Given the description of an element on the screen output the (x, y) to click on. 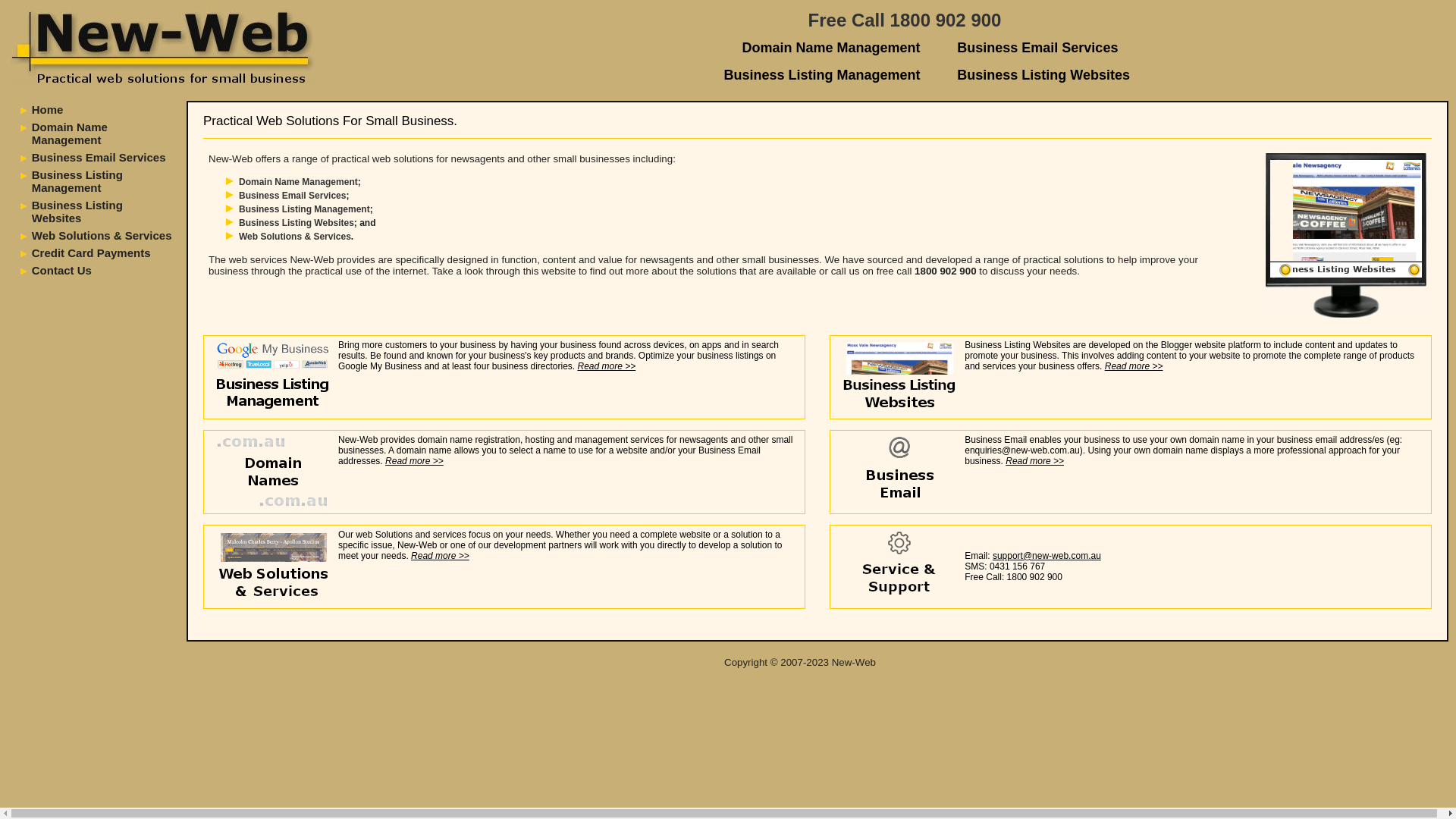
Credit Card Payments Element type: text (90, 252)
Web Solutions & Services Element type: text (101, 235)
Business Listing Websites Element type: text (1043, 74)
Domain Name Management Element type: text (830, 47)
Web Solutions & Services Element type: text (294, 236)
Business Email Services Element type: text (291, 195)
Read more >> Element type: text (440, 555)
Business Listing Websites Element type: text (296, 222)
Business Email Services Element type: text (1037, 47)
Read more >> Element type: text (414, 460)
Business Email Services Element type: text (98, 156)
Home       Element type: text (56, 109)
Business Listing Management Element type: text (304, 208)
Read more >> Element type: text (1034, 460)
Contact Us Element type: text (61, 269)
Domain Name Management Element type: text (297, 181)
Read more >> Element type: text (606, 365)
Read more >> Element type: text (1133, 365)
Business Listing Websites Element type: text (76, 211)
Domain Name Management Element type: text (69, 133)
Business Listing Management Element type: text (821, 74)
support@new-web.com.au Element type: text (1046, 555)
Business Listing Management Element type: text (76, 181)
